Given the description of an element on the screen output the (x, y) to click on. 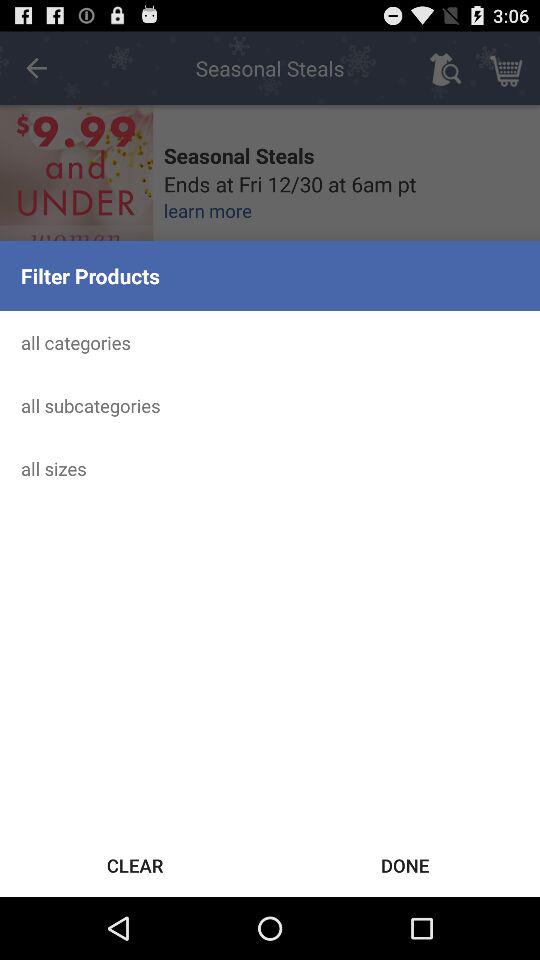
choose icon next to the done icon (135, 864)
